Given the description of an element on the screen output the (x, y) to click on. 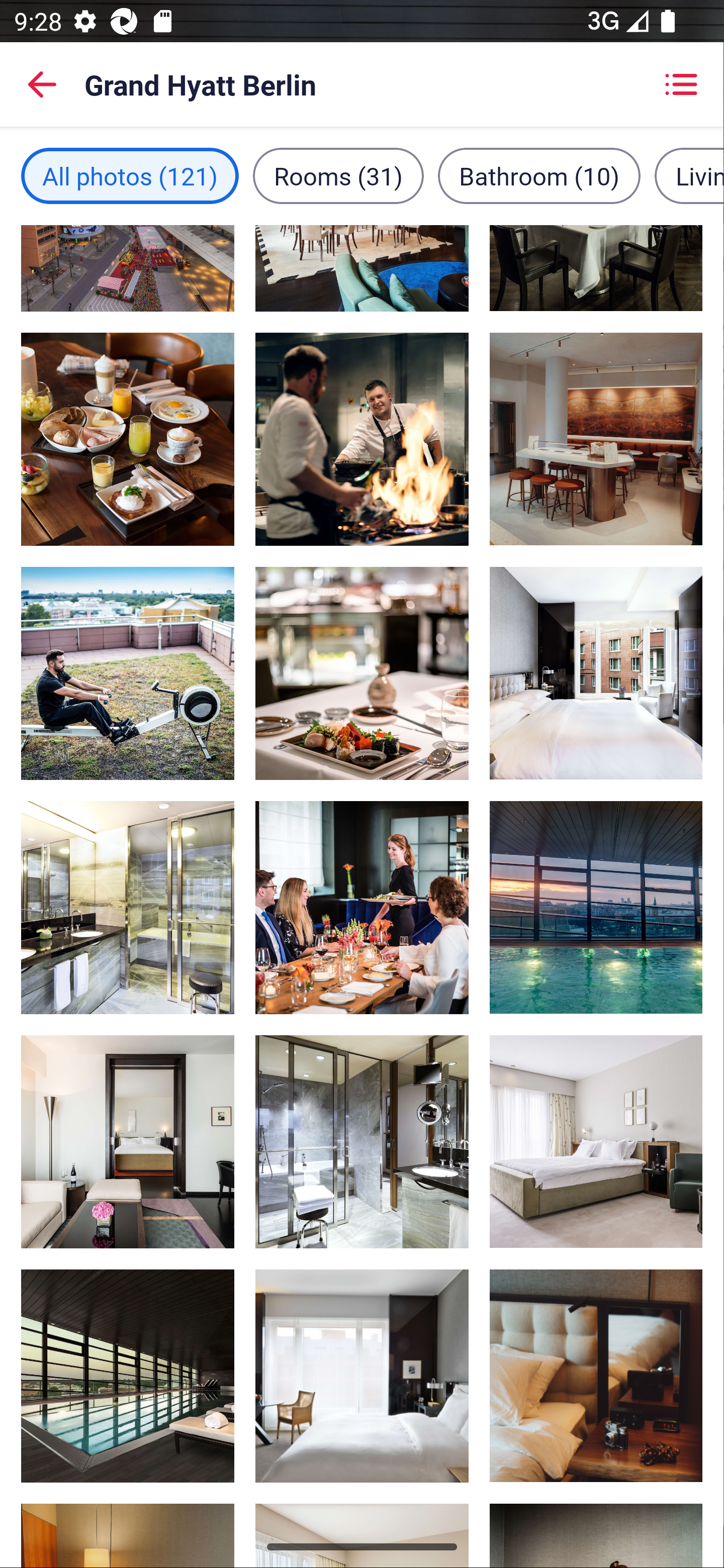
Back (42, 84)
Showing grid view (681, 84)
All photos filter, 121 images (129, 175)
Rooms filter, 31 images (337, 175)
Bathroom filter, 10 images (539, 175)
Living area filter, 12 images (688, 175)
Exterior, image (127, 268)
Bar (on property), image (361, 268)
2 restaurants, Asian cuisine, image (595, 267)
2 restaurants, Asian cuisine, image (127, 438)
2 restaurants, Asian cuisine, image (361, 438)
2 restaurants, Asian cuisine, image (595, 438)
Fitness facility, image (127, 673)
2 restaurants, Asian cuisine, image (361, 673)
Meeting facility, image (361, 907)
Indoor pool, image (595, 906)
Indoor pool, image (127, 1376)
